Given the description of an element on the screen output the (x, y) to click on. 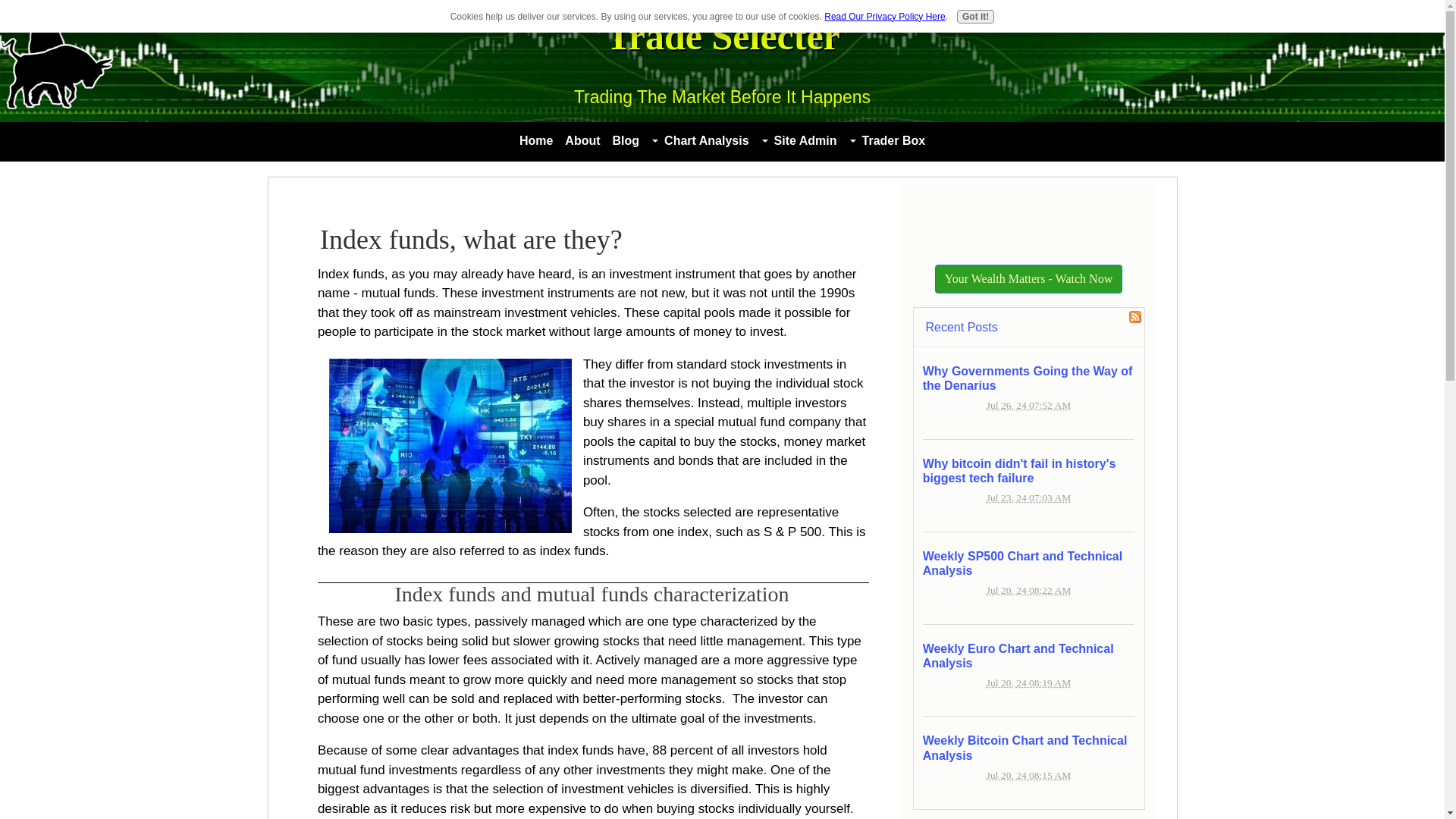
2024-07-20T08:22:15-0400 (1028, 590)
2024-07-20T08:15:44-0400 (1028, 775)
2024-07-26T07:52:55-0400 (1028, 405)
Home (536, 140)
2024-07-20T08:19:12-0400 (1028, 682)
2024-07-23T07:03:43-0400 (1028, 497)
Trade Selecter (722, 36)
Blog (626, 140)
About (582, 140)
Index funds (450, 445)
